Given the description of an element on the screen output the (x, y) to click on. 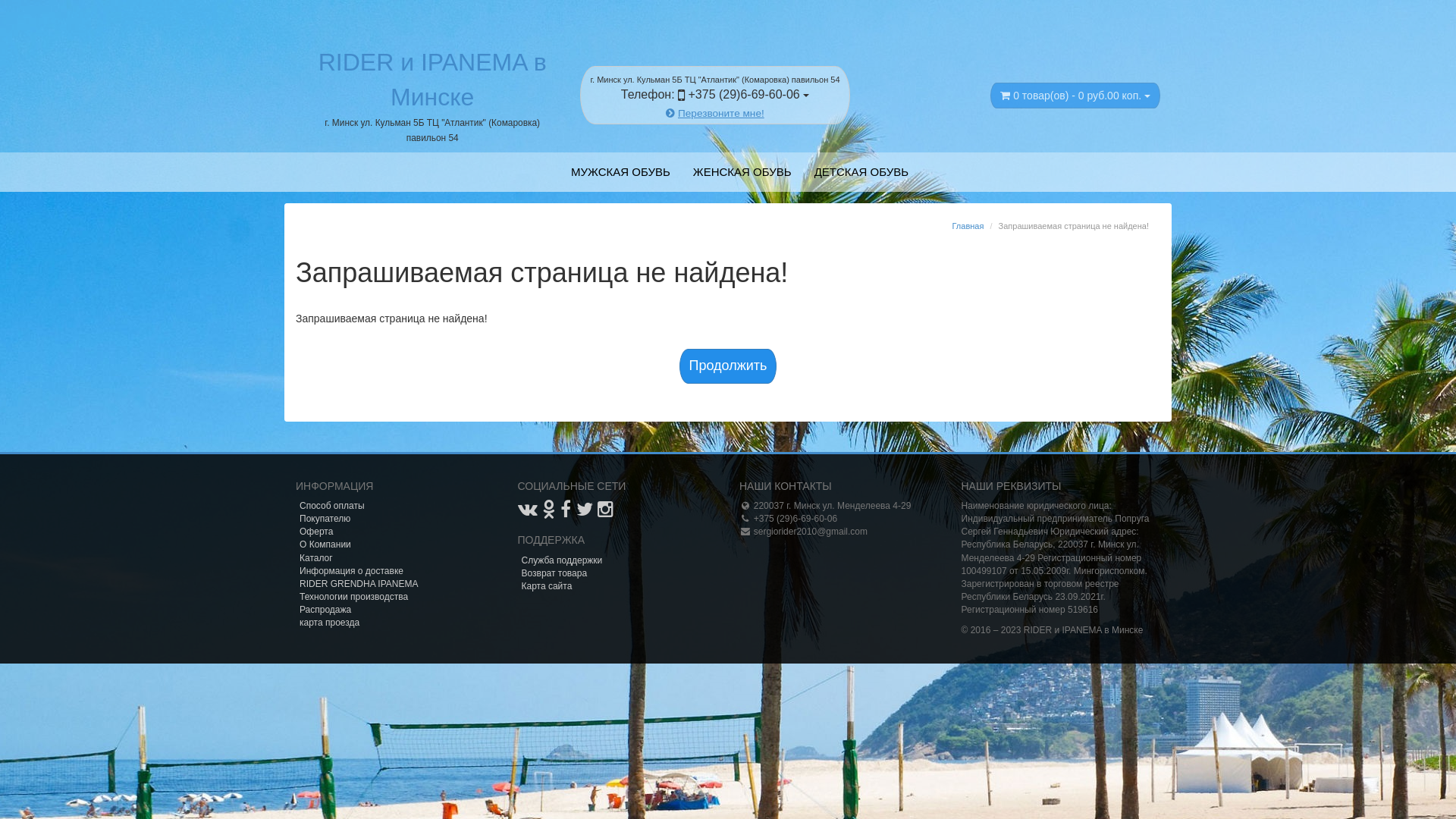
RIDER GRENDHA IPANEMA Element type: text (358, 583)
